Given the description of an element on the screen output the (x, y) to click on. 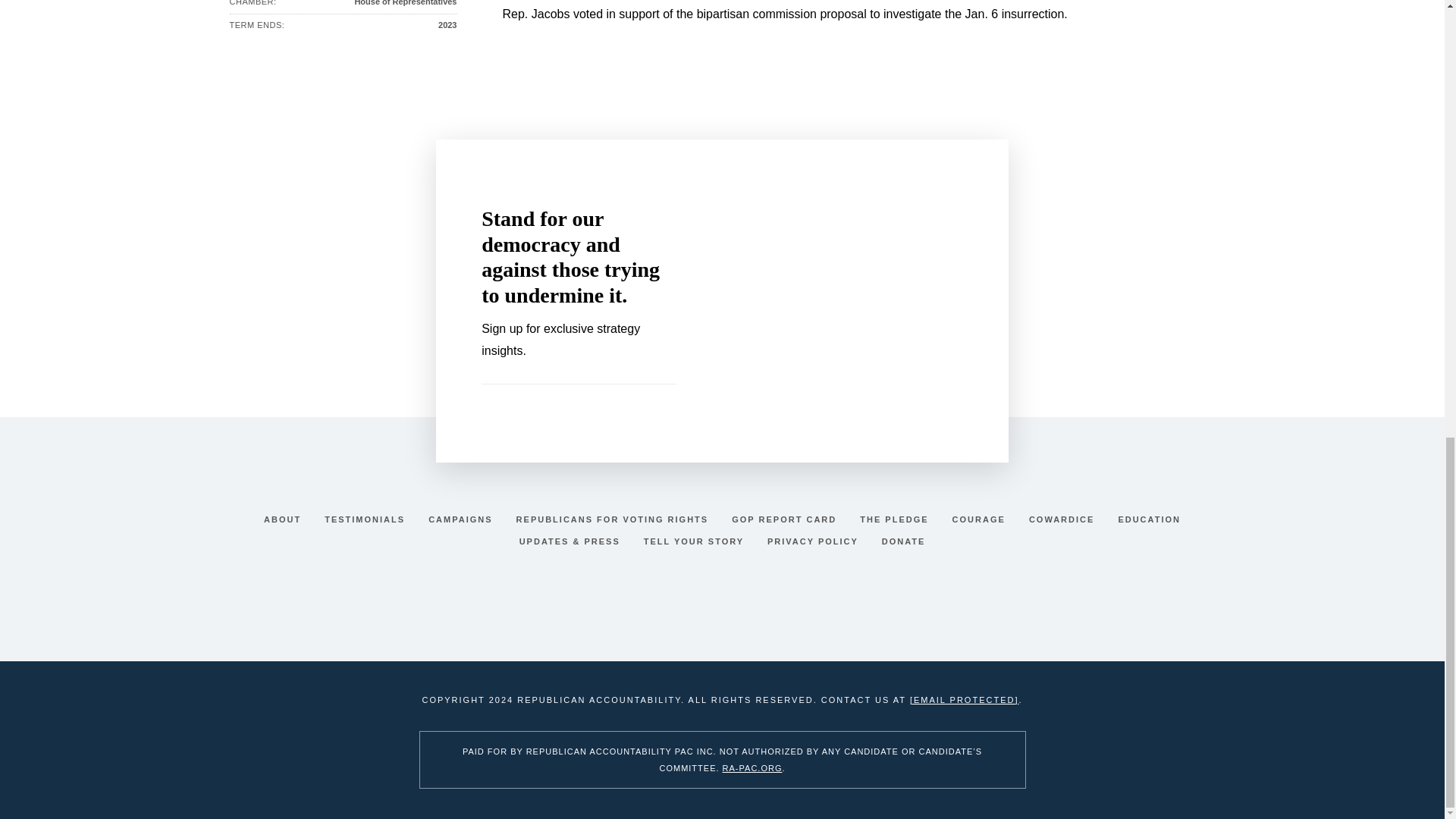
PRIVACY POLICY (814, 541)
DONATE (904, 541)
CAMPAIGNS (462, 519)
ABOUT (283, 519)
COWARDICE (1063, 519)
TESTIMONIALS (366, 519)
EDUCATION (1149, 519)
THE PLEDGE (896, 519)
TELL YOUR STORY (695, 541)
COURAGE (980, 519)
GOP REPORT CARD (786, 519)
REPUBLICANS FOR VOTING RIGHTS (614, 519)
